Given the description of an element on the screen output the (x, y) to click on. 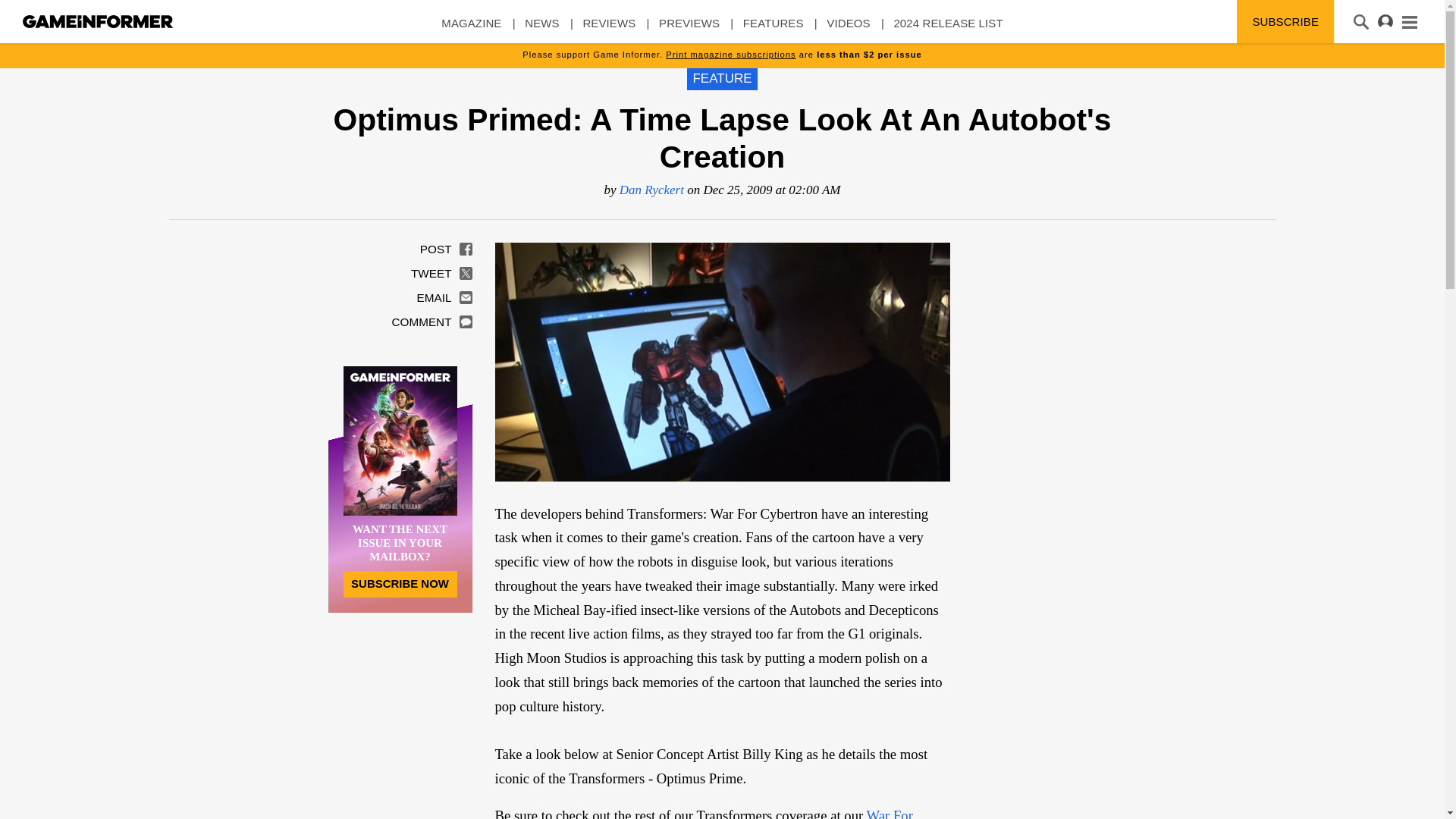
REVIEWS (608, 29)
VIDEOS (848, 29)
FEATURES (772, 29)
PREVIEWS (689, 29)
Search (32, 13)
MAGAZINE (470, 29)
2024 RELEASE LIST (948, 29)
SUBSCRIBE (1284, 21)
NEWS (541, 29)
